Given the description of an element on the screen output the (x, y) to click on. 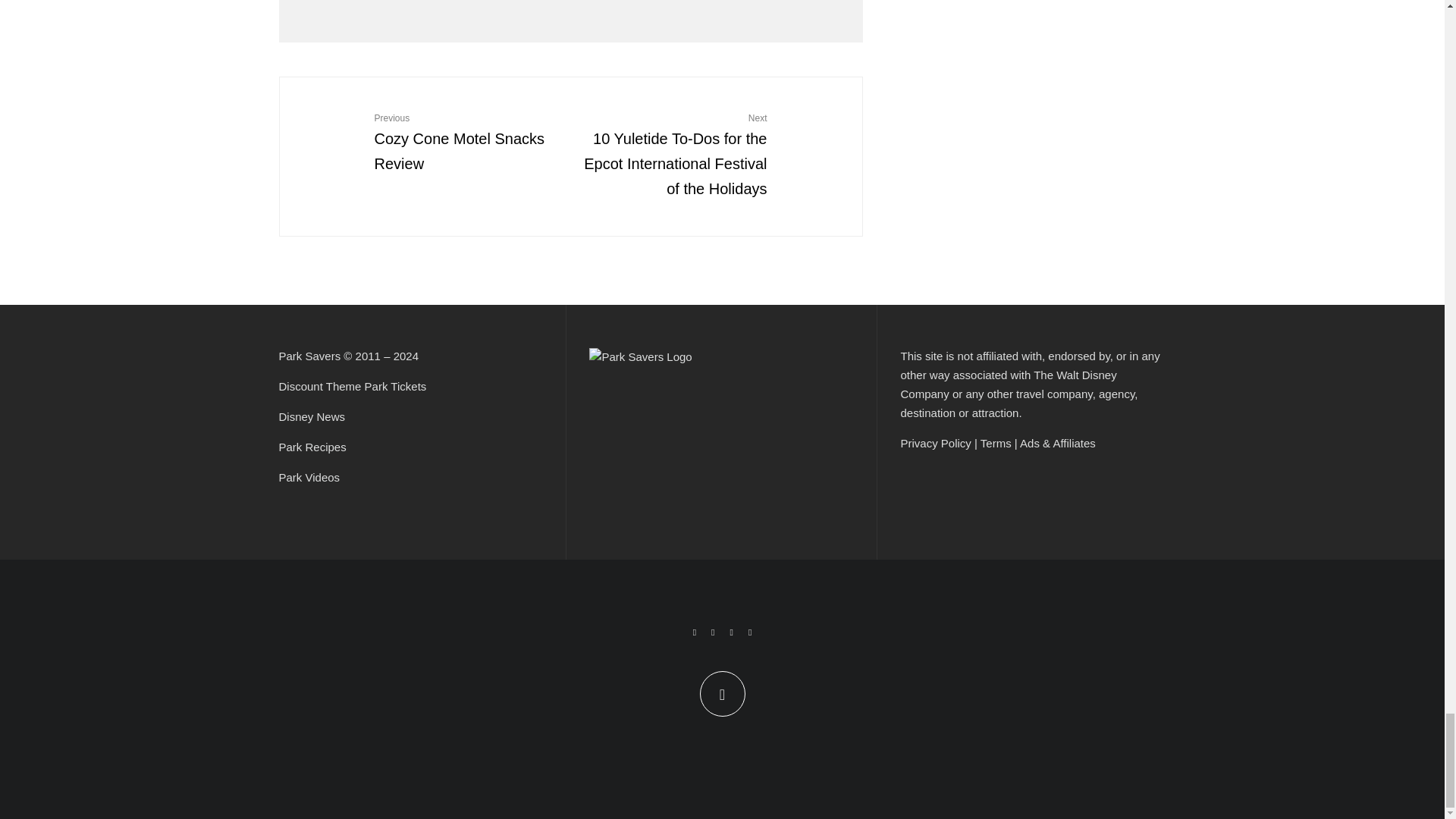
Cozy Cone Motel Snacks Review 9 (333, 130)
